Given the description of an element on the screen output the (x, y) to click on. 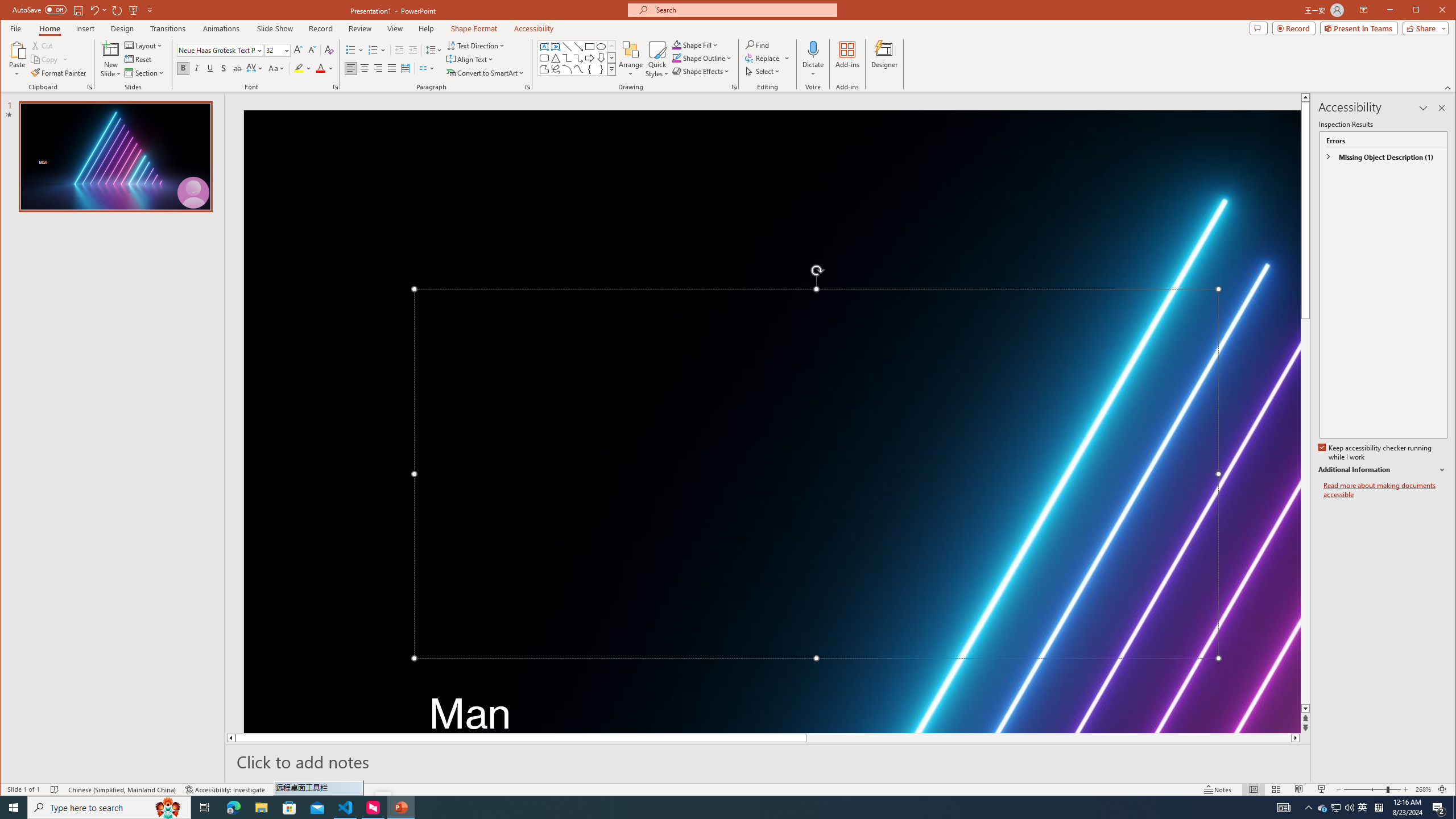
Neon laser lights aligned to form a triangle (772, 421)
